Given the description of an element on the screen output the (x, y) to click on. 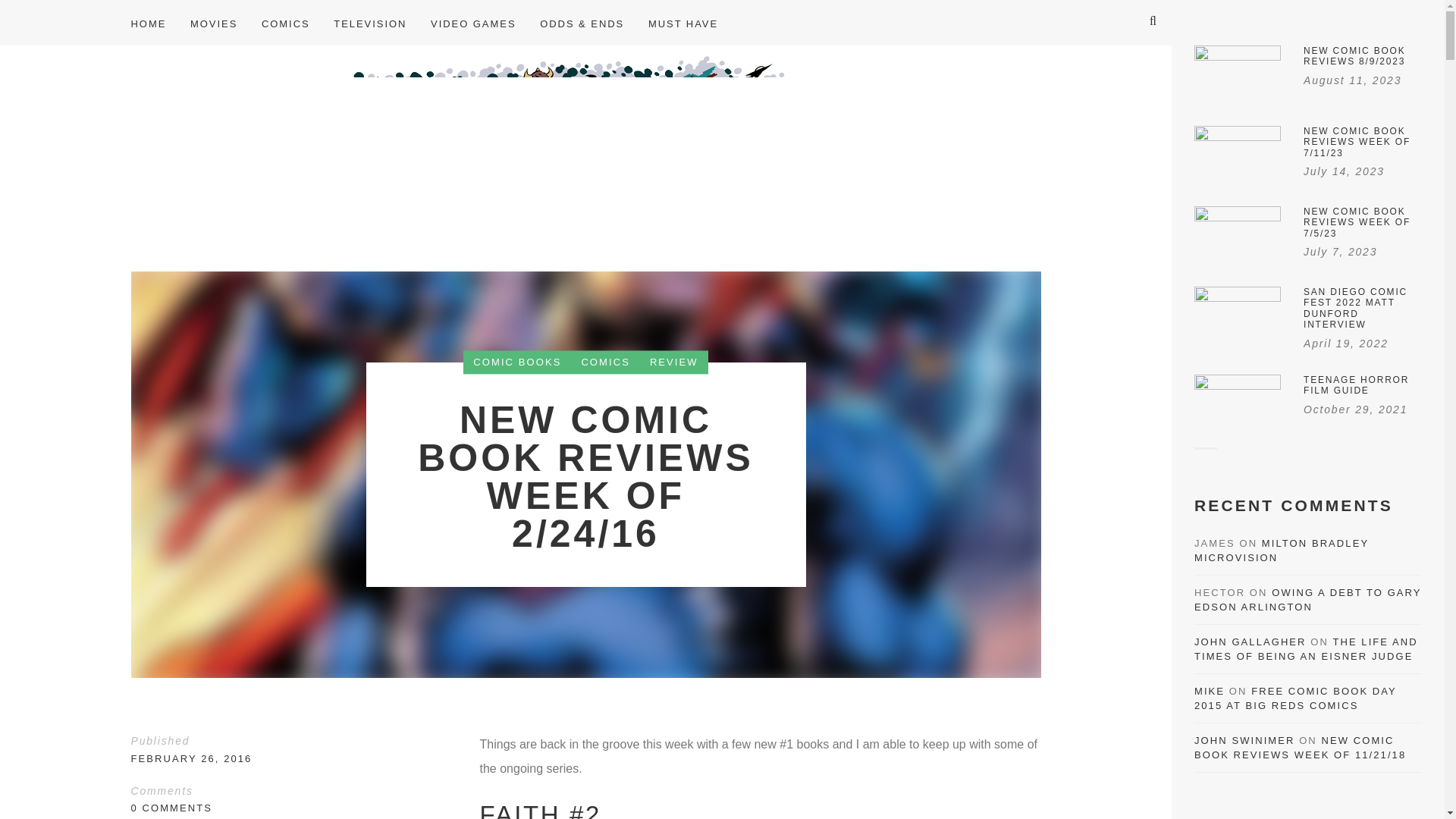
COMIC BOOKS (516, 361)
COMICS (604, 361)
REVIEW (673, 361)
MOVIES (213, 22)
VIDEO GAMES (473, 22)
San Diego Comic Fest 2022 Matt Dunford Interview (1307, 319)
COMICS (285, 22)
MUST HAVE (683, 22)
0 COMMENTS (171, 808)
HOME (154, 22)
TELEVISION (369, 22)
